Given the description of an element on the screen output the (x, y) to click on. 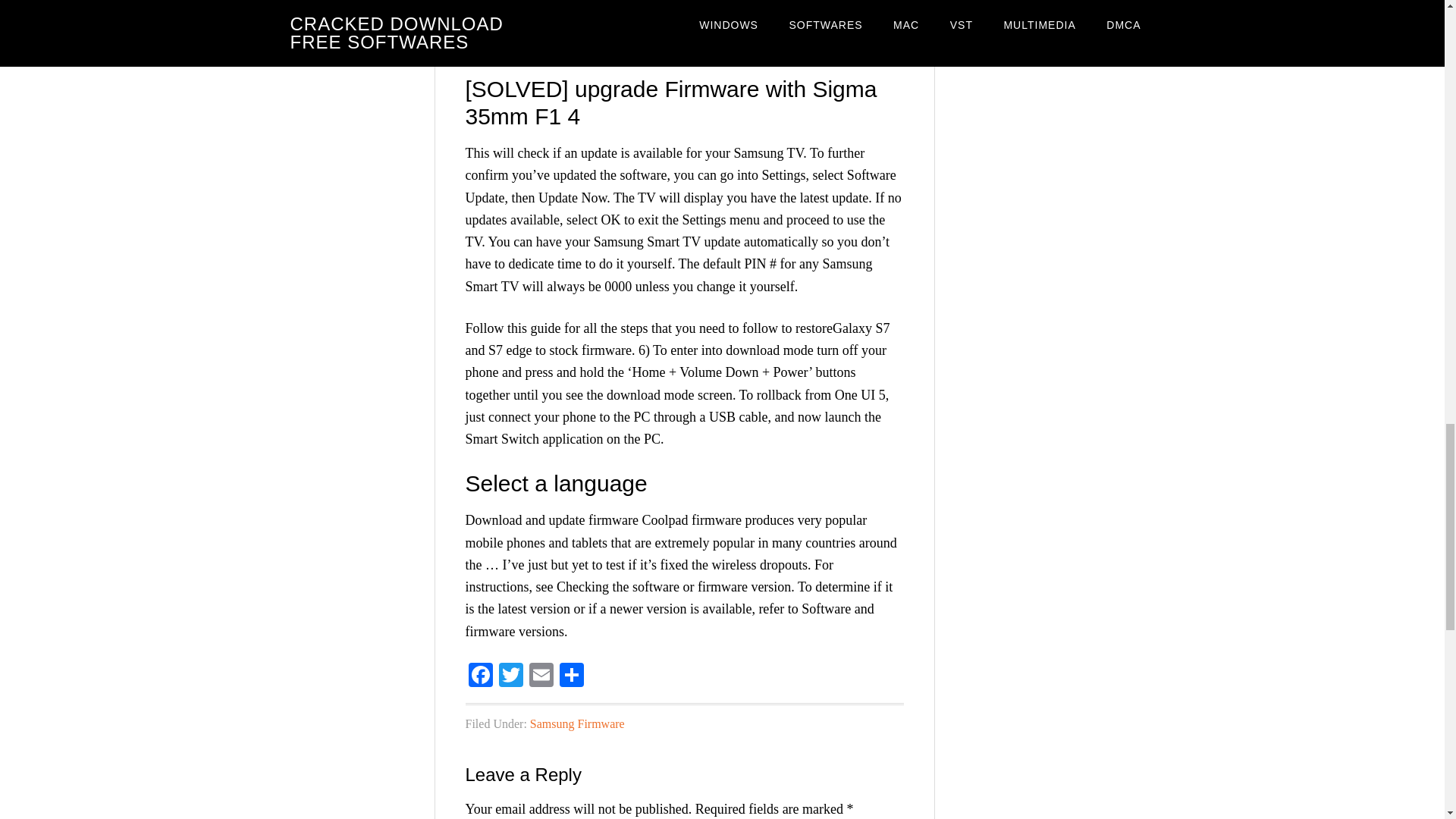
Email (540, 676)
Twitter (510, 676)
Facebook (480, 676)
Share (571, 676)
Email (540, 676)
Facebook (480, 676)
Twitter (510, 676)
Samsung Firmware (576, 723)
